Given the description of an element on the screen output the (x, y) to click on. 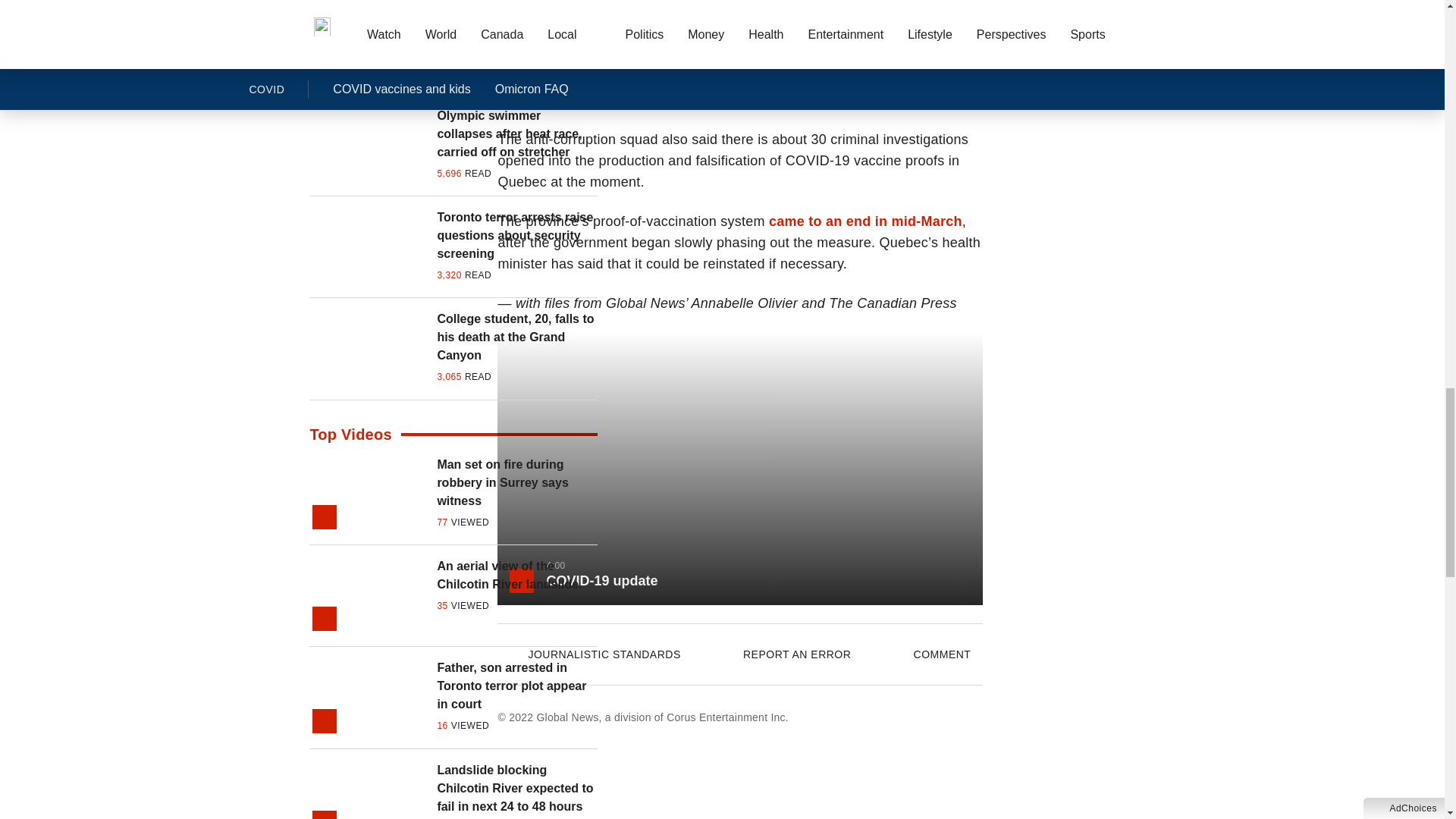
An aerial view of the Chilcotin River landslide. (516, 575)
College student, 20, falls to his death at the Grand Canyon (516, 337)
Man set on fire during robbery in Surrey says witness (516, 482)
Father, son arrested in Toronto terror plot appear in court (516, 686)
